Given the description of an element on the screen output the (x, y) to click on. 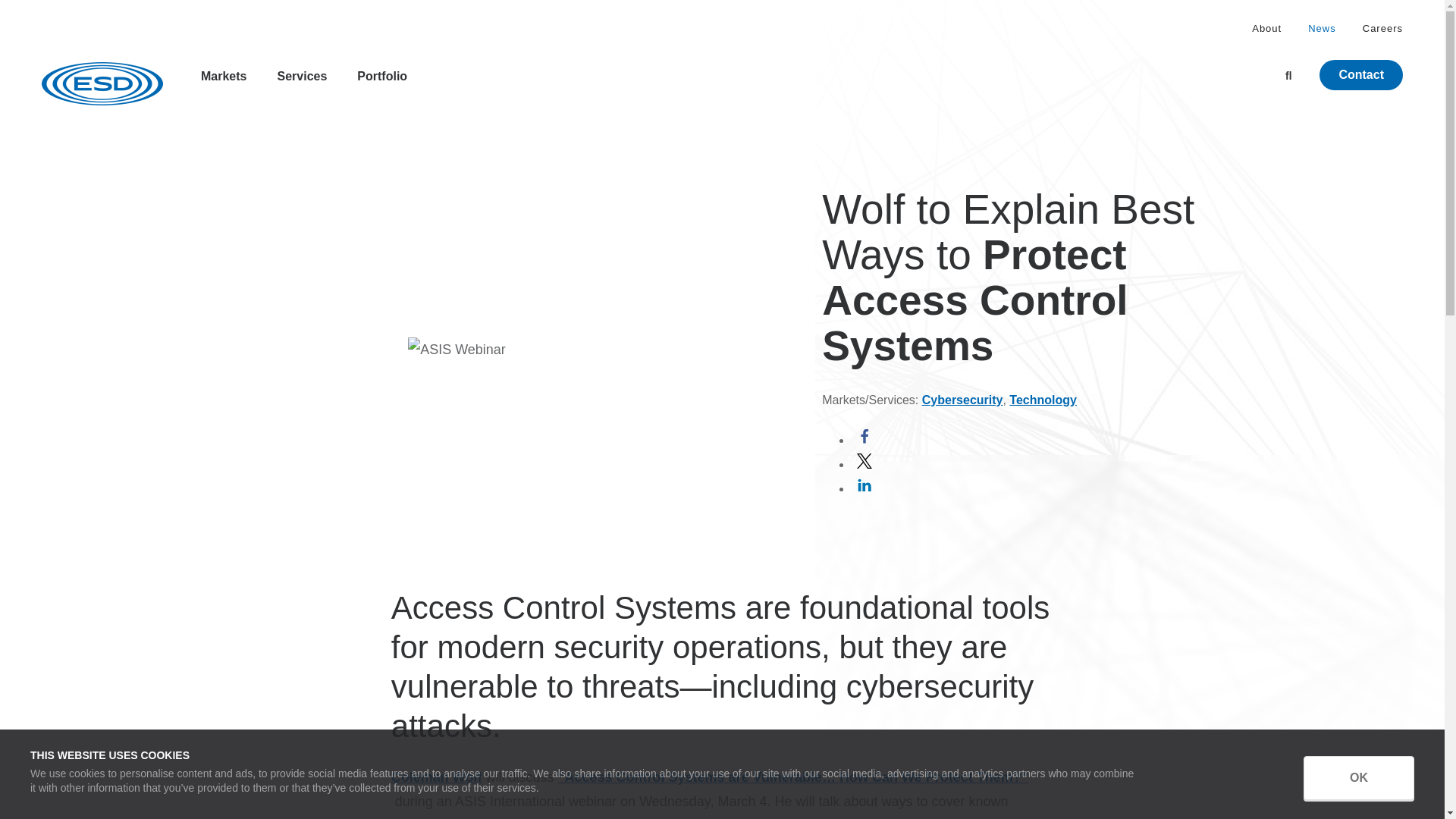
Search (1297, 75)
News (1321, 28)
OK (1358, 777)
Careers (1382, 28)
Careers (1382, 28)
Services (301, 83)
About (1266, 28)
Contact (1361, 74)
News (1321, 28)
Markets (223, 83)
About (1266, 28)
